Given the description of an element on the screen output the (x, y) to click on. 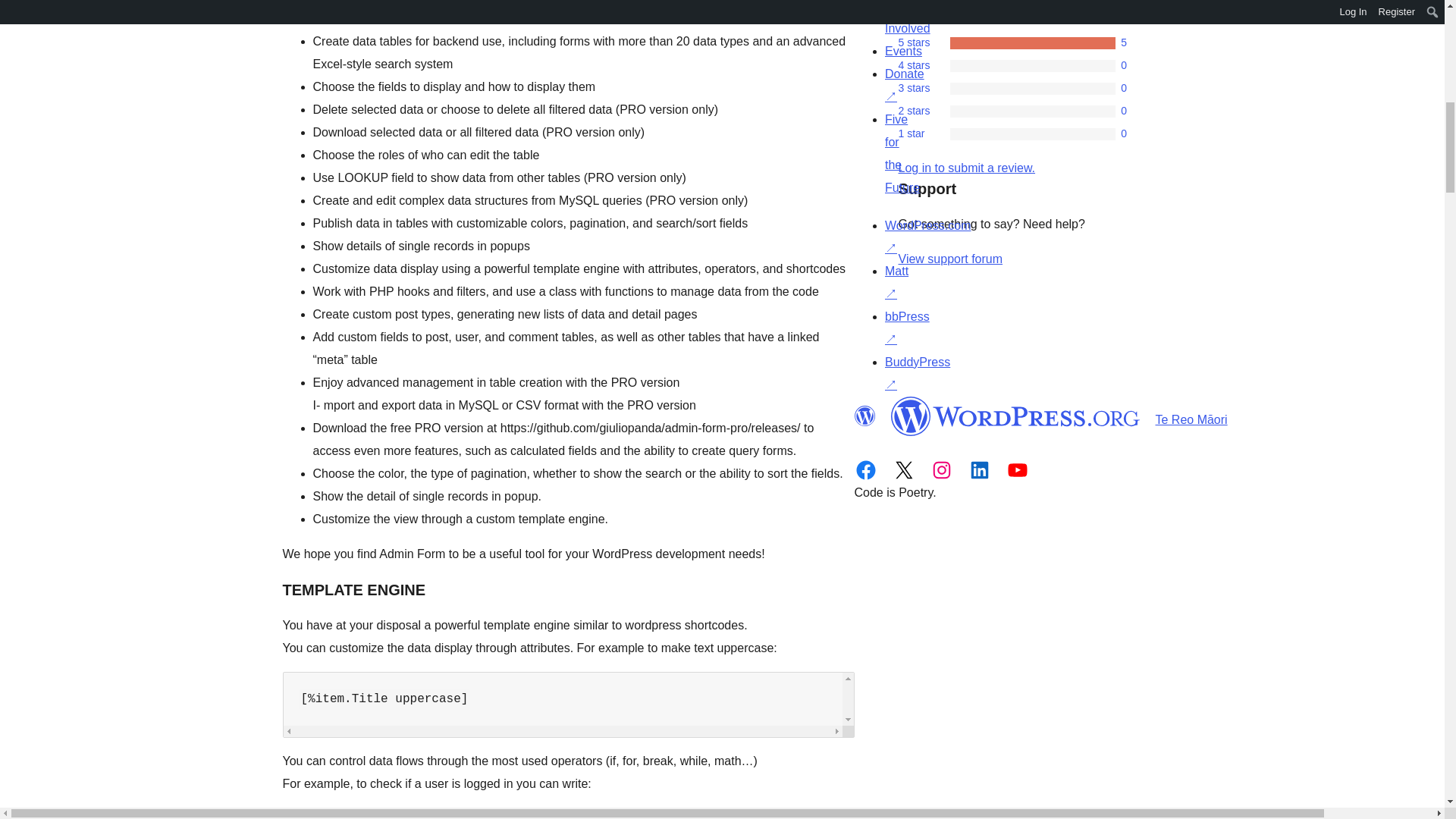
WordPress.org (1014, 415)
Log in to WordPress.org (966, 167)
WordPress.org (864, 415)
